Given the description of an element on the screen output the (x, y) to click on. 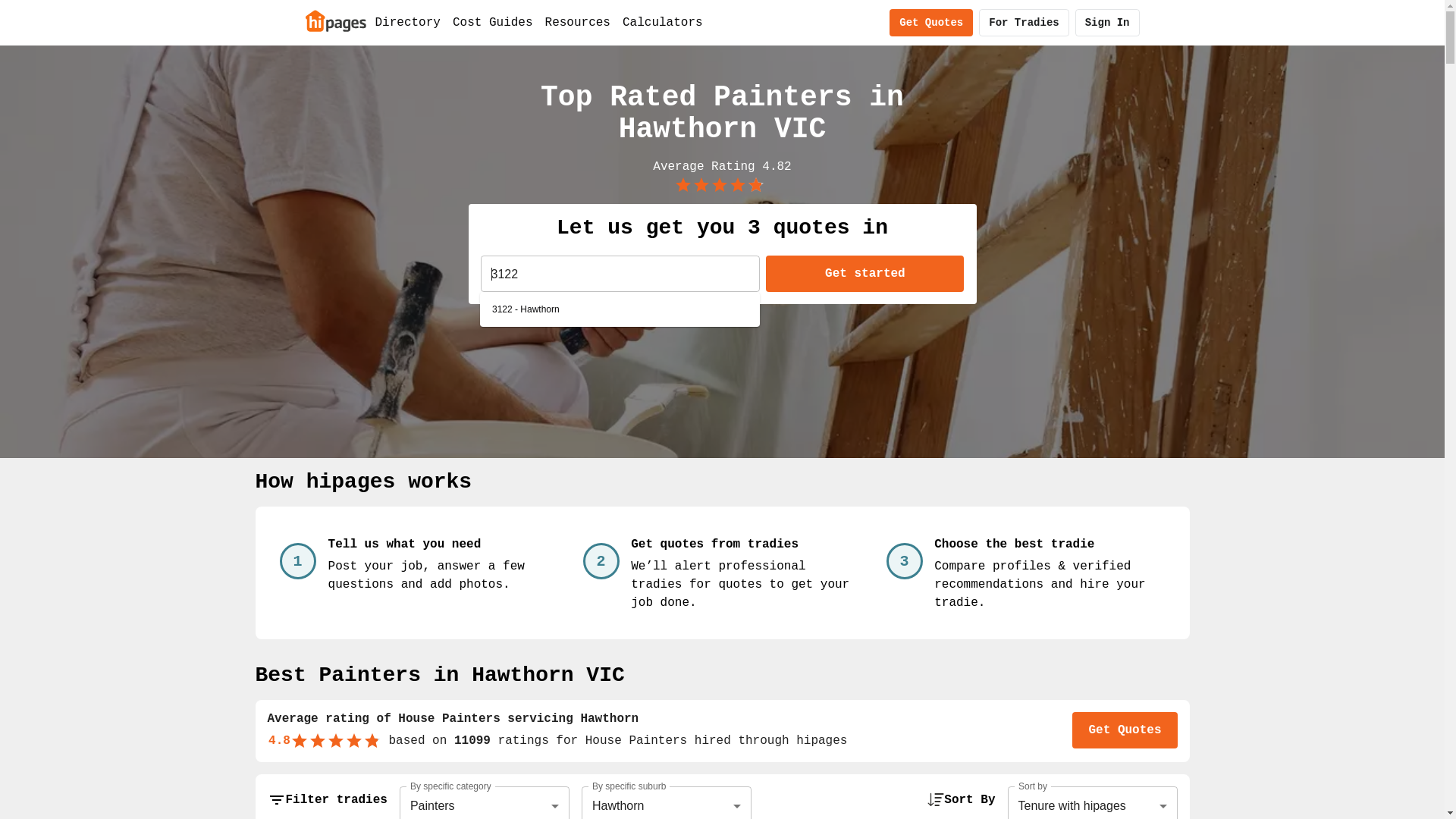
Get Quotes Element type: text (930, 22)
Get Quotes Element type: text (1124, 730)
Directory Element type: text (406, 22)
Get started Element type: text (864, 273)
Sign In Element type: text (1107, 22)
Calculators Element type: text (662, 22)
Home Element type: hover (334, 20)
Resources Element type: text (577, 22)
For Tradies Element type: text (1023, 22)
Cost Guides Element type: text (492, 22)
